Given the description of an element on the screen output the (x, y) to click on. 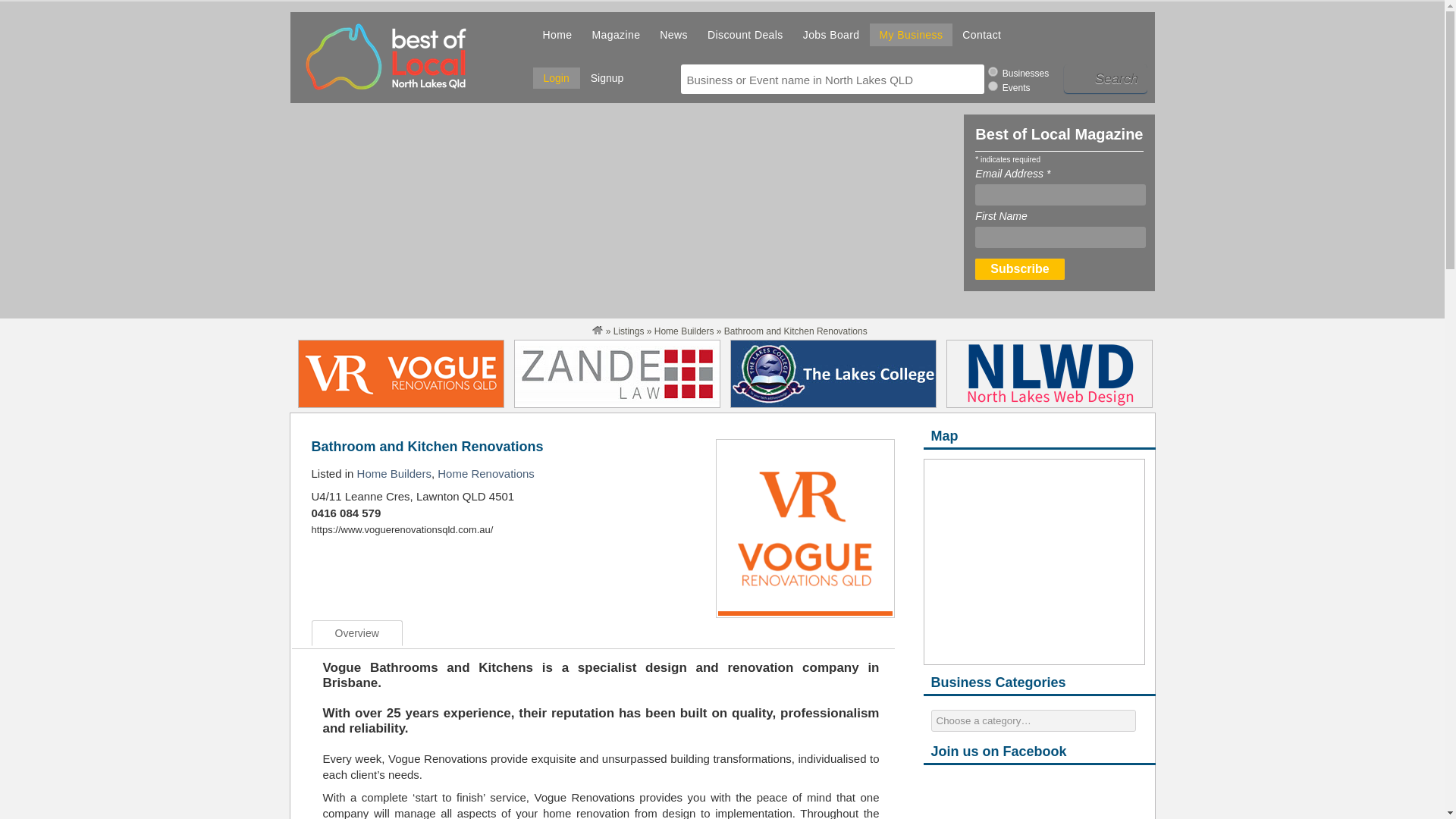
Discount Deals (745, 35)
Home (556, 35)
My Business (911, 35)
Bathroom and Kitchen Renovations (427, 446)
Jobs in North Lakes (831, 35)
Home Builders (393, 472)
Add your Business or Organisation (911, 35)
North Lakes QLD (597, 330)
Signup (606, 79)
Home Builders (683, 330)
